Given the description of an element on the screen output the (x, y) to click on. 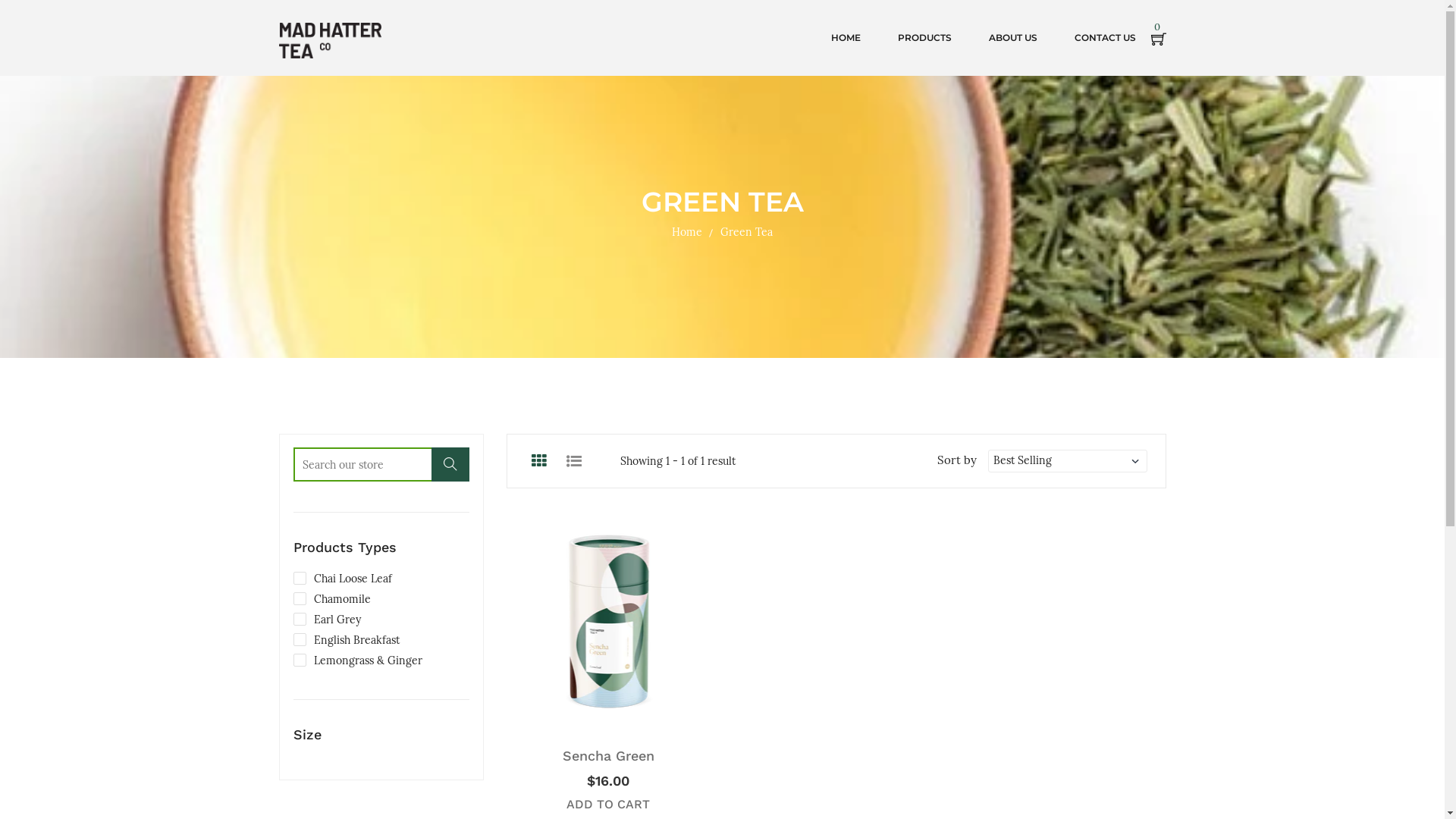
Chai Loose Leaf Element type: text (341, 578)
ABOUT US Element type: text (1012, 37)
ADD TO CART Element type: text (607, 804)
HOME Element type: text (845, 37)
Chamomile Element type: text (331, 598)
English Breakfast Element type: text (345, 639)
0 Element type: text (1158, 37)
CONTACT US Element type: text (1104, 37)
Earl Grey Element type: text (326, 619)
Lemongrass & Ginger Element type: text (356, 660)
Home Element type: text (686, 231)
PRODUCTS Element type: text (924, 37)
Wishlist Element type: hover (648, 717)
Quick View Element type: hover (682, 717)
Sencha Green Element type: text (608, 755)
